Given the description of an element on the screen output the (x, y) to click on. 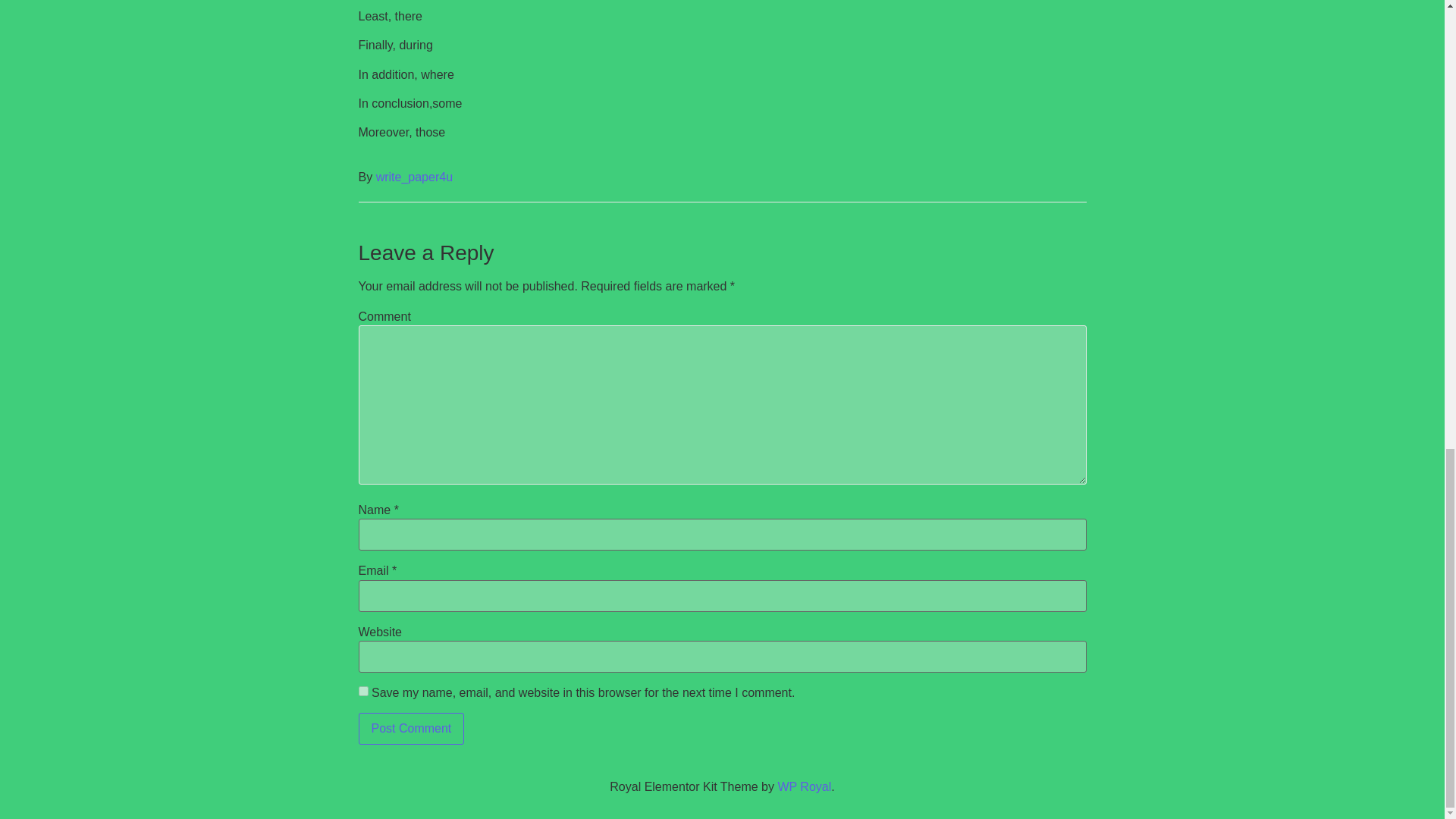
Post Comment (411, 728)
yes (363, 691)
Post Comment (411, 728)
WP Royal (804, 786)
